Given the description of an element on the screen output the (x, y) to click on. 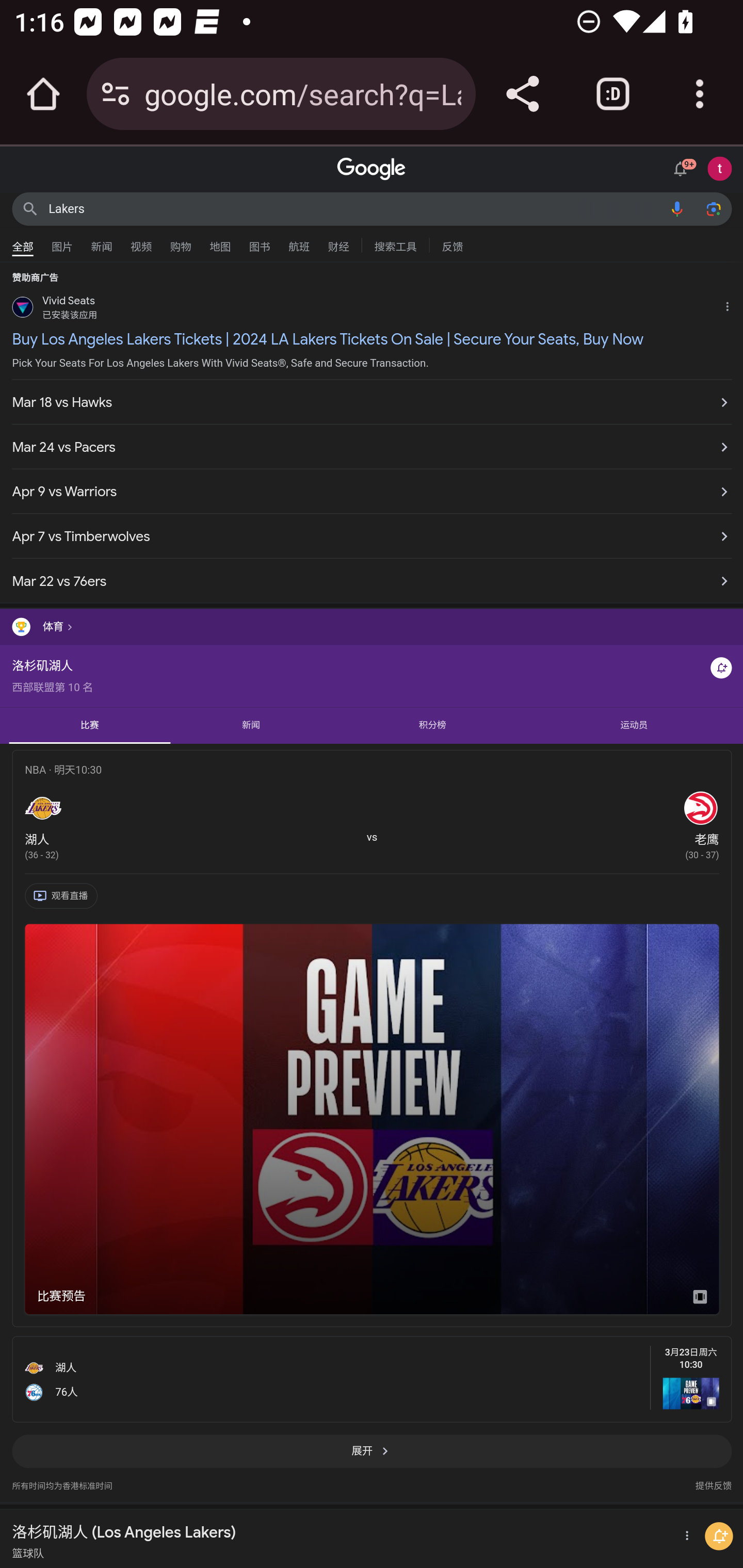
Open the home page (43, 93)
Connection is secure (115, 93)
Share (522, 93)
Switch or close tabs (612, 93)
Customize and control Google Chrome (699, 93)
Google (371, 169)
有 9 条以上的新通知 (683, 166)
Google 账号： test appium (testappium002@gmail.com) (719, 168)
Google 搜索 (29, 208)
使用拍照功能或照片进行搜索 (712, 208)
Lakers (353, 208)
图片 (62, 241)
新闻 (101, 241)
视频 (141, 241)
购物 (180, 241)
地图 (219, 241)
图书 (259, 241)
航班 (299, 241)
财经 (338, 241)
搜索工具 (395, 244)
反馈 (452, 244)
为什么会显示该广告？ (731, 303)
Mar 18 vs Hawks (371, 401)
Mar 24 vs Pacers (371, 447)
Apr 9 vs Warriors (371, 491)
Apr 7 vs Timberwolves (371, 536)
Mar 22 vs 76ers (371, 576)
体育 (371, 627)
接收关于“洛杉矶湖人”的通知 (721, 667)
比赛 (89, 725)
新闻 (250, 725)
积分榜 (431, 725)
运动员 (633, 725)
观看直播 (64, 897)
展开 (371, 1456)
提供反馈 (713, 1481)
接收关于“洛杉矶湖人”的通知 (718, 1536)
更多选项 (685, 1536)
